Given the description of an element on the screen output the (x, y) to click on. 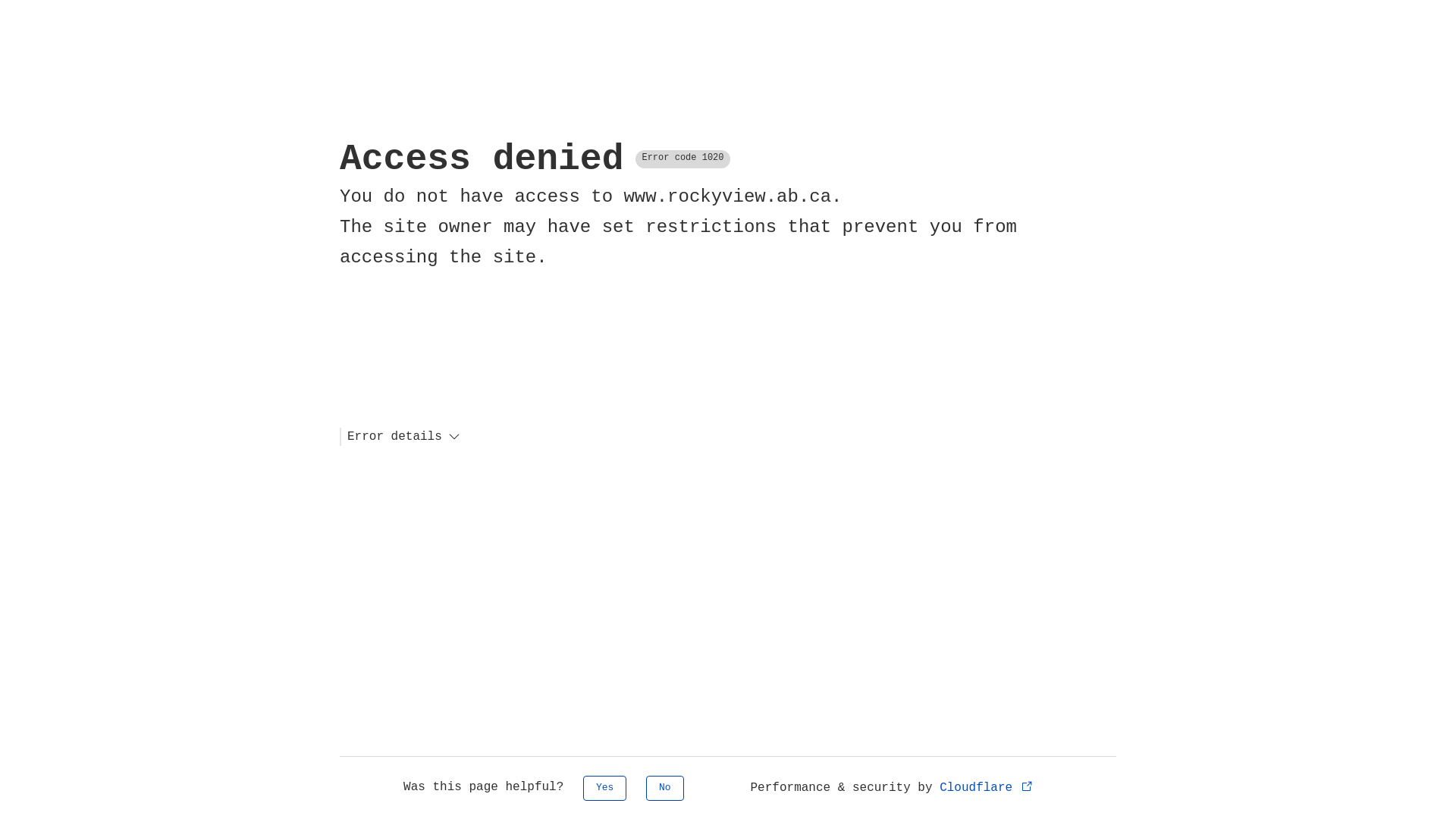
No Element type: text (665, 787)
Opens in new tab Element type: hover (1027, 785)
Yes Element type: text (604, 787)
Cloudflare Element type: text (986, 787)
